Given the description of an element on the screen output the (x, y) to click on. 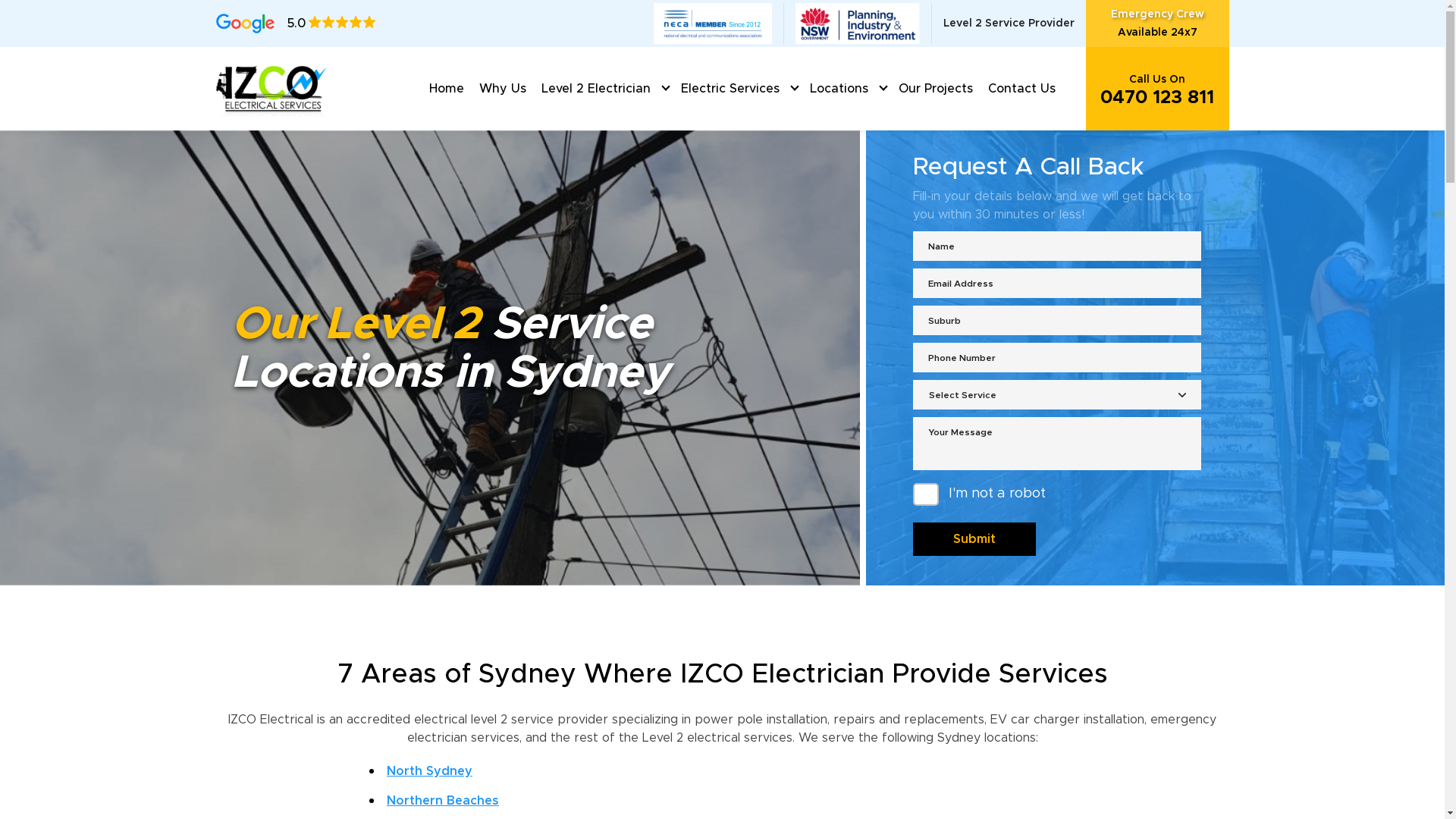
Northern Beaches Element type: text (442, 800)
5.0 Element type: text (295, 23)
Our Projects Element type: text (934, 88)
Call Us On
0470 123 811 Element type: text (1157, 88)
Izco Electrical Services Element type: hover (272, 87)
Contact Us Element type: text (1020, 88)
I'm not a robot Element type: text (925, 494)
Electric Services Element type: text (730, 88)
Level 2 Electrician Element type: text (595, 88)
Home Element type: text (446, 88)
Locations Element type: text (838, 88)
Why Us Element type: text (502, 88)
Submit Element type: text (974, 538)
North Sydney Element type: text (429, 771)
